Given the description of an element on the screen output the (x, y) to click on. 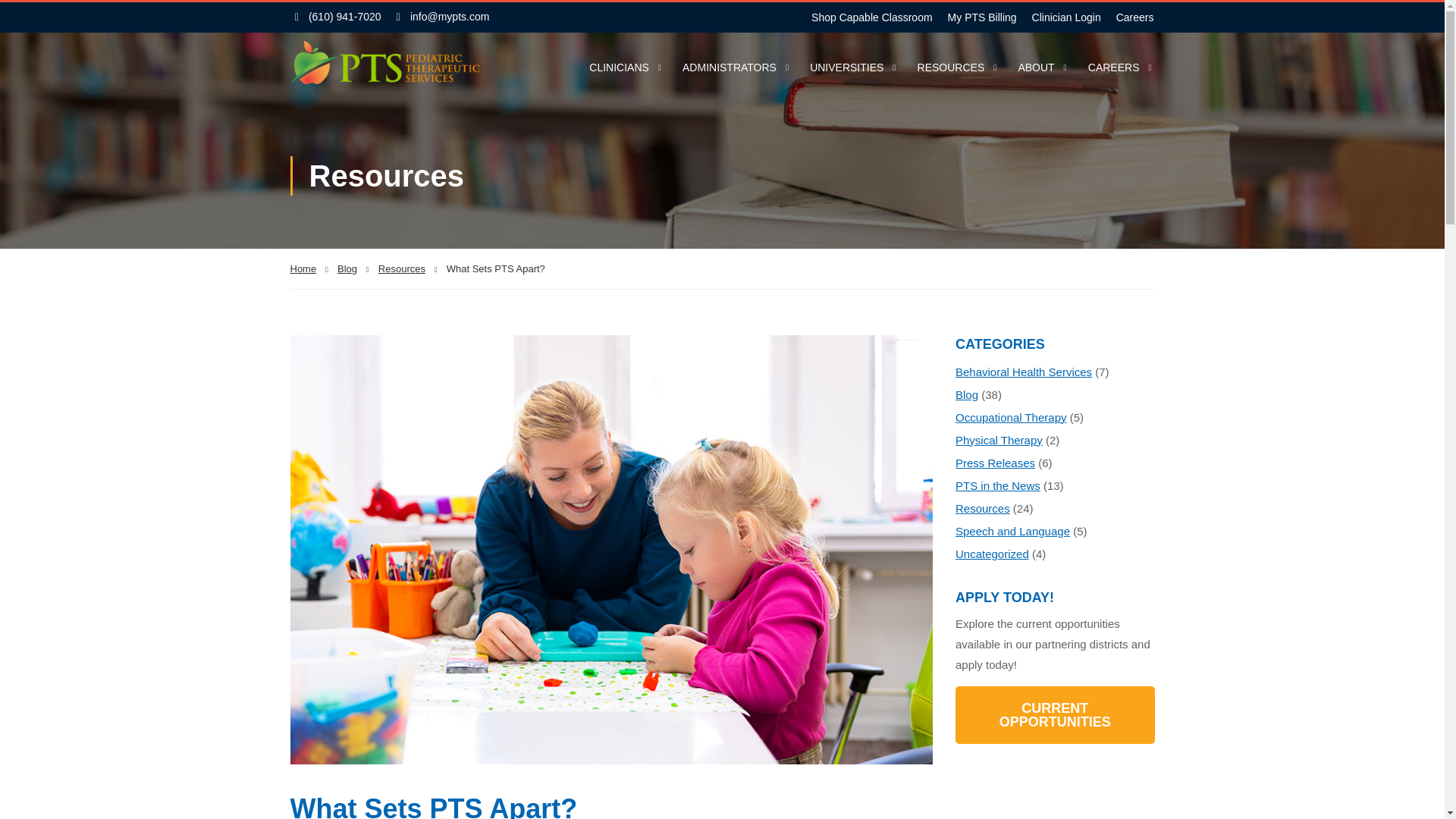
Shop Capable Classroom (868, 17)
Pediatric Therapeutic Services -  (384, 68)
